Given the description of an element on the screen output the (x, y) to click on. 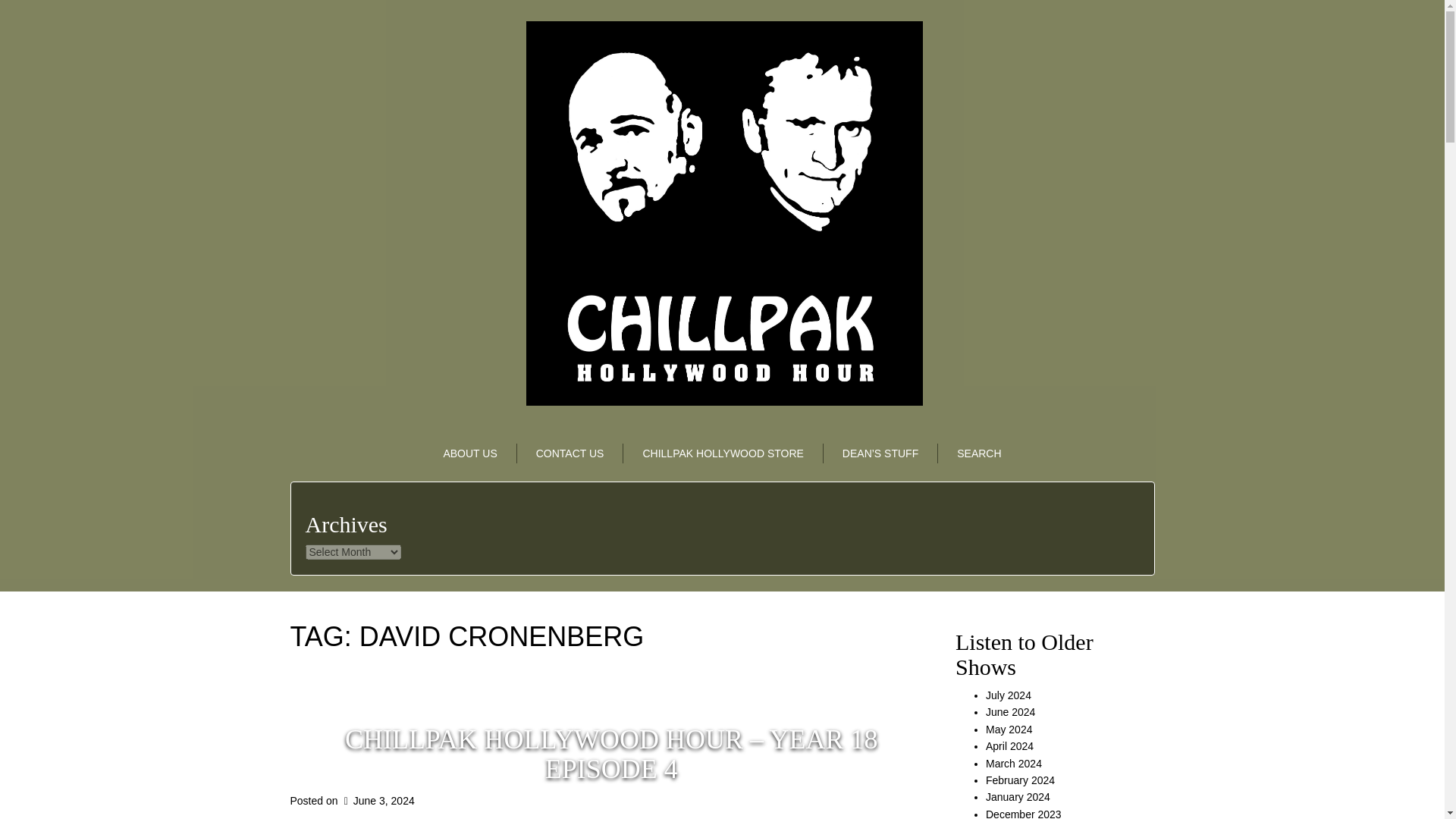
Dean's Stuff (880, 453)
Contact Us (570, 453)
June 3, 2024 (376, 800)
CONTACT US (570, 453)
SEARCH (978, 453)
About Us (469, 453)
ABOUT US (469, 453)
Chillpak Hollywood Store (722, 453)
CHILLPAK HOLLYWOOD STORE (722, 453)
Search (978, 453)
